Given the description of an element on the screen output the (x, y) to click on. 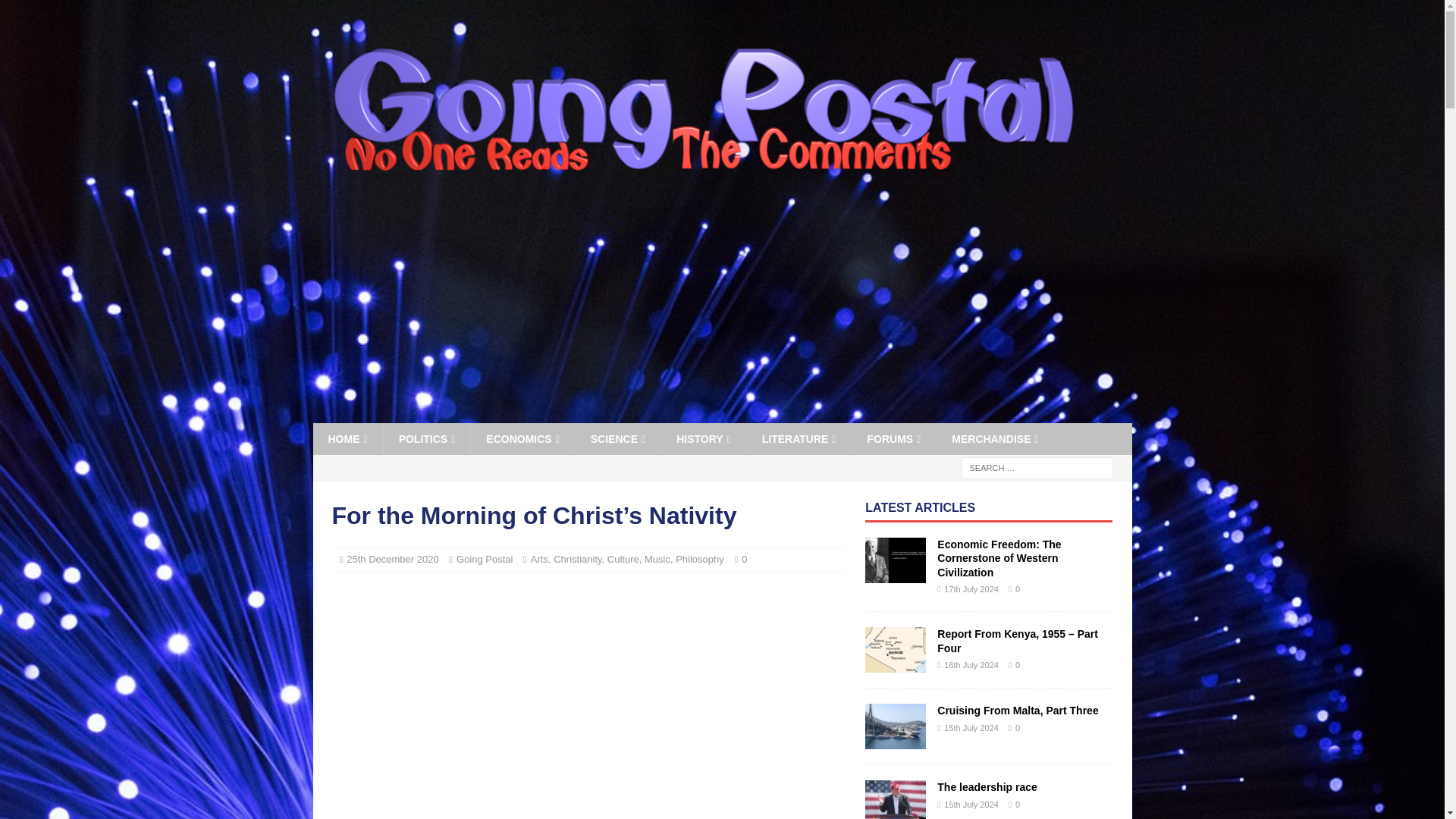
st pauls cathedral ringing bells (588, 703)
Going Postal (703, 191)
